Given the description of an element on the screen output the (x, y) to click on. 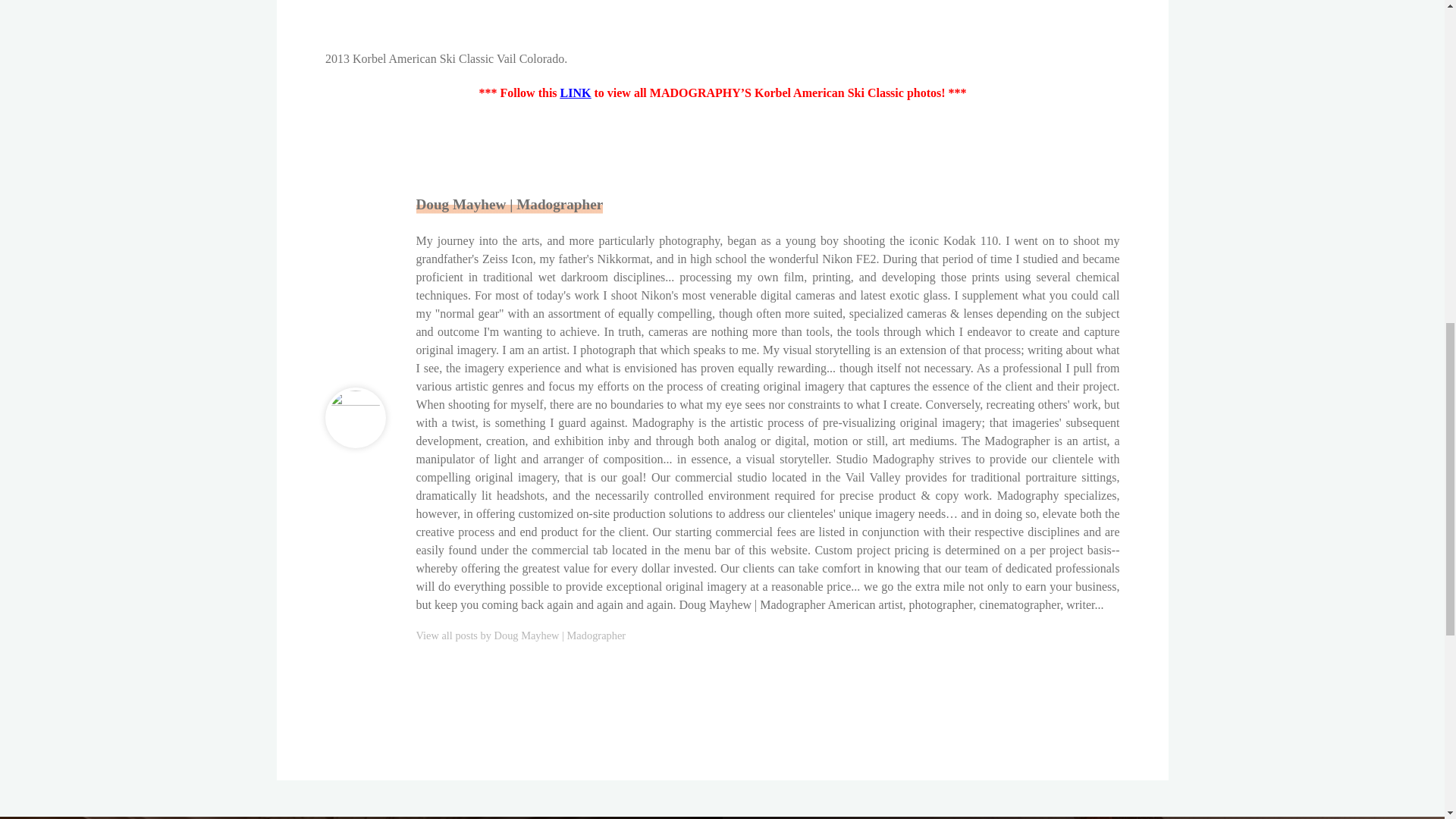
Vail American Ski Classic (575, 92)
LINK (575, 92)
